Given the description of an element on the screen output the (x, y) to click on. 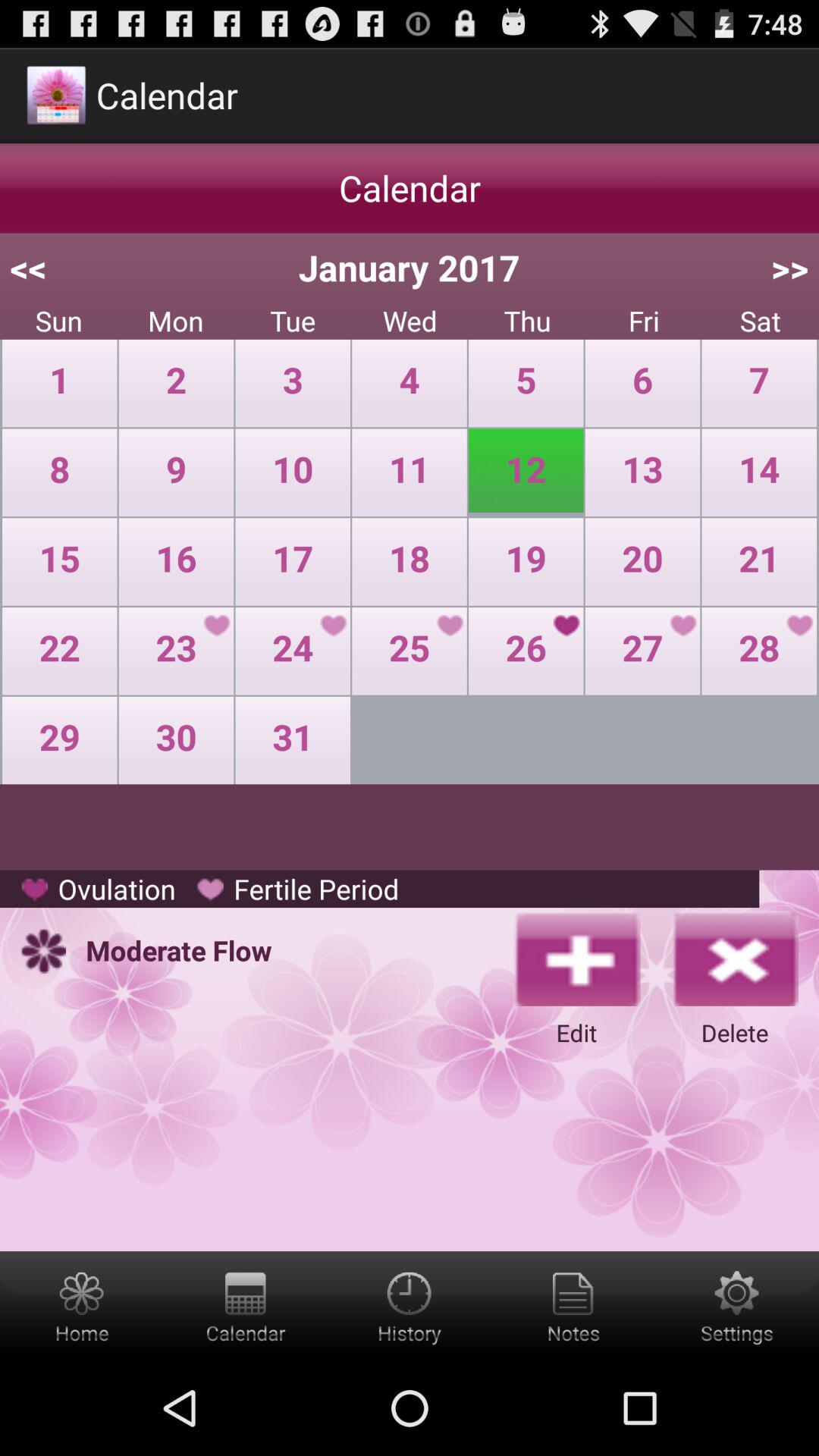
home option (81, 1305)
